Given the description of an element on the screen output the (x, y) to click on. 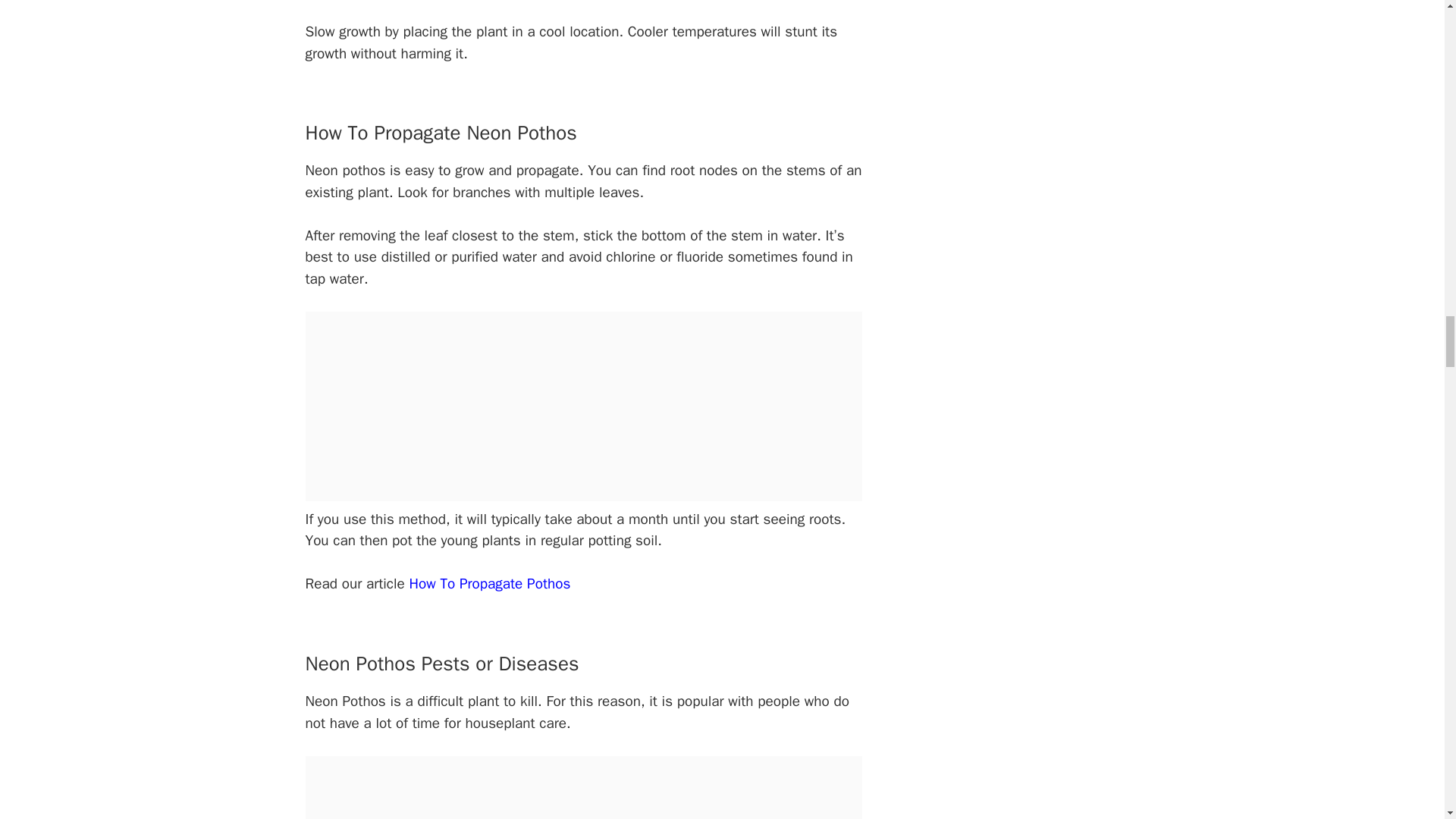
How To Propagate Pothos (489, 583)
